Given the description of an element on the screen output the (x, y) to click on. 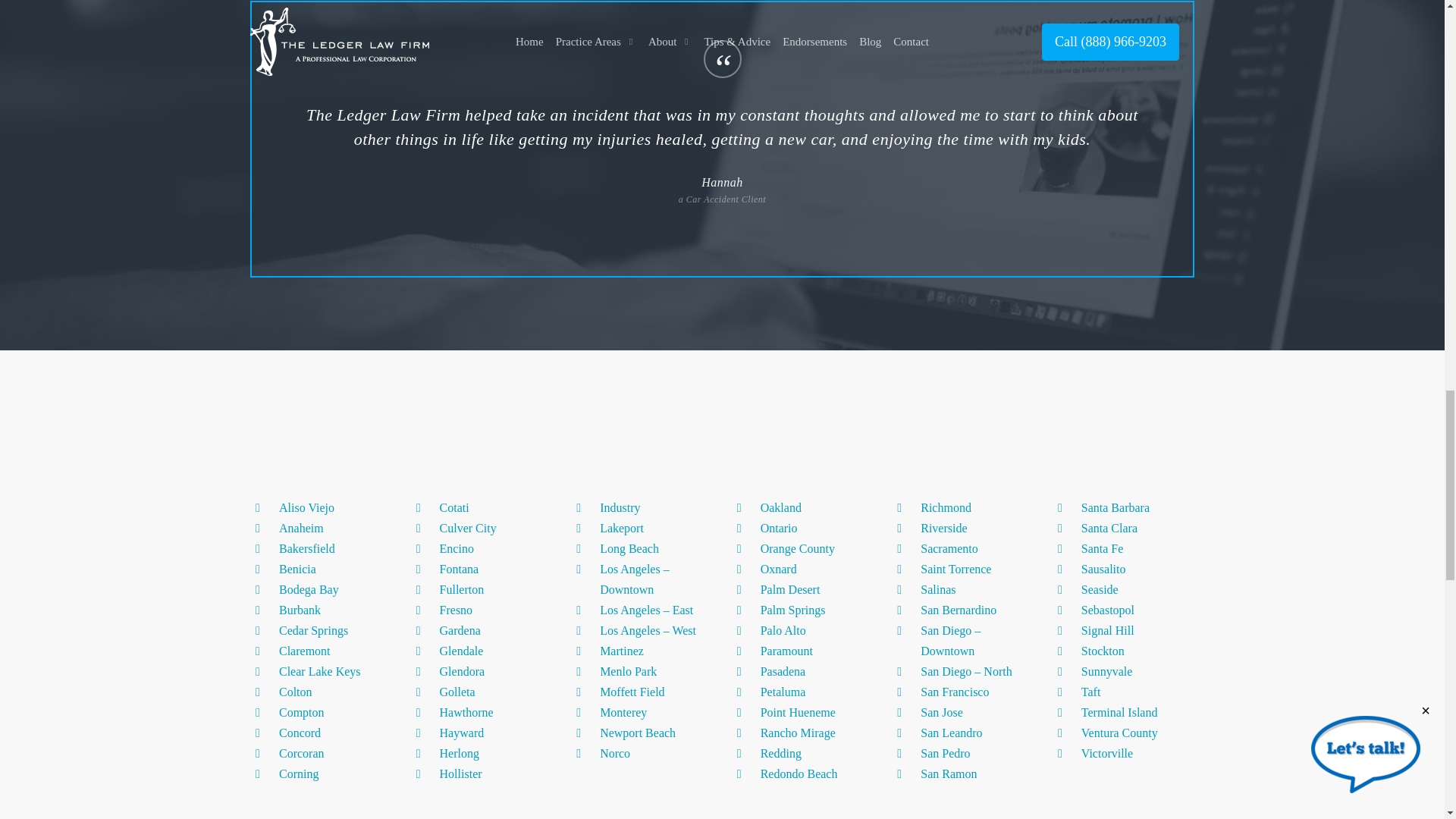
Anaheim (301, 527)
Bakersfield (306, 548)
Aliso Viejo (306, 507)
